Given the description of an element on the screen output the (x, y) to click on. 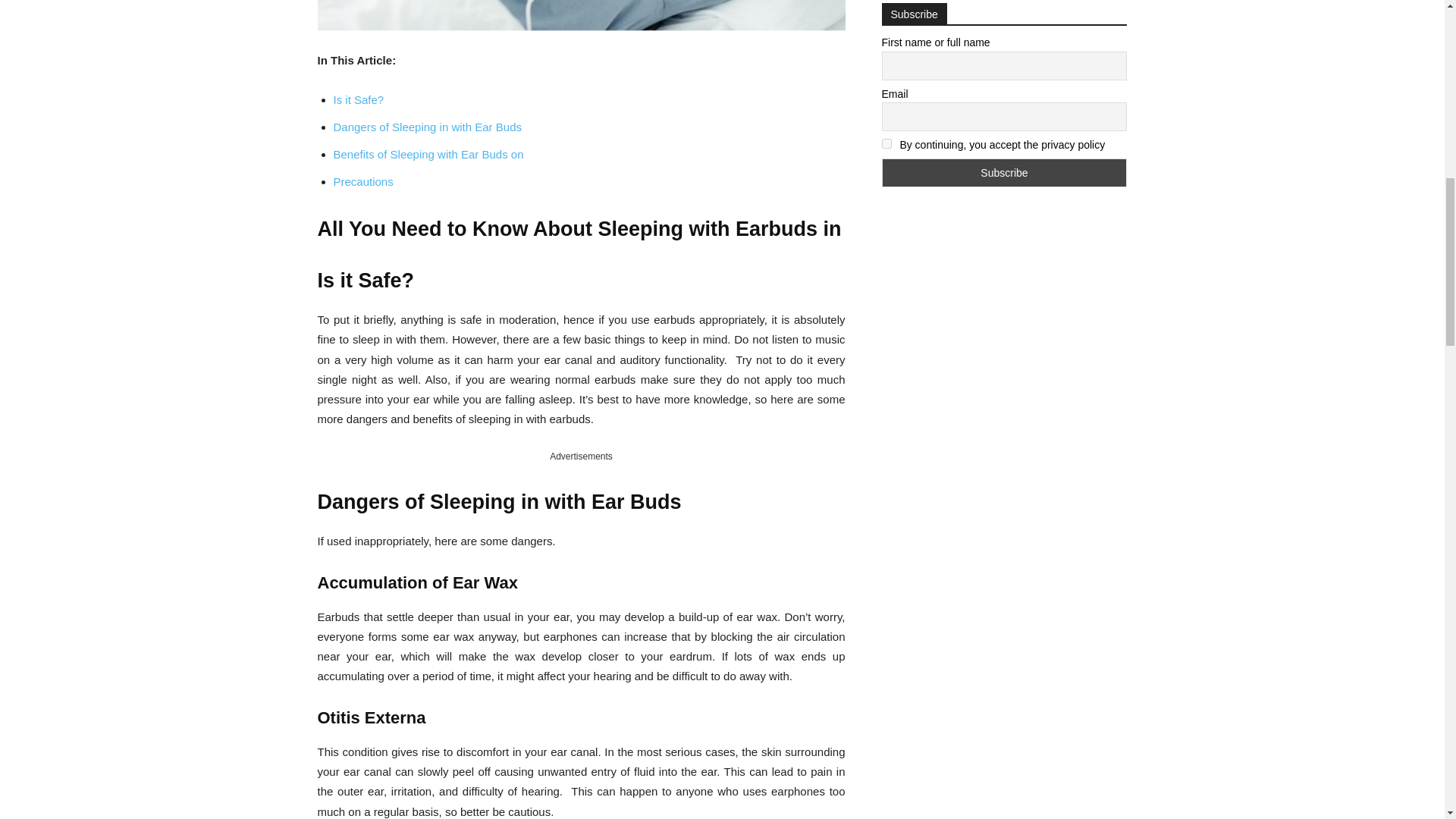
Subscribe (1003, 172)
on (885, 143)
sleeping with earphones in (580, 15)
